Given the description of an element on the screen output the (x, y) to click on. 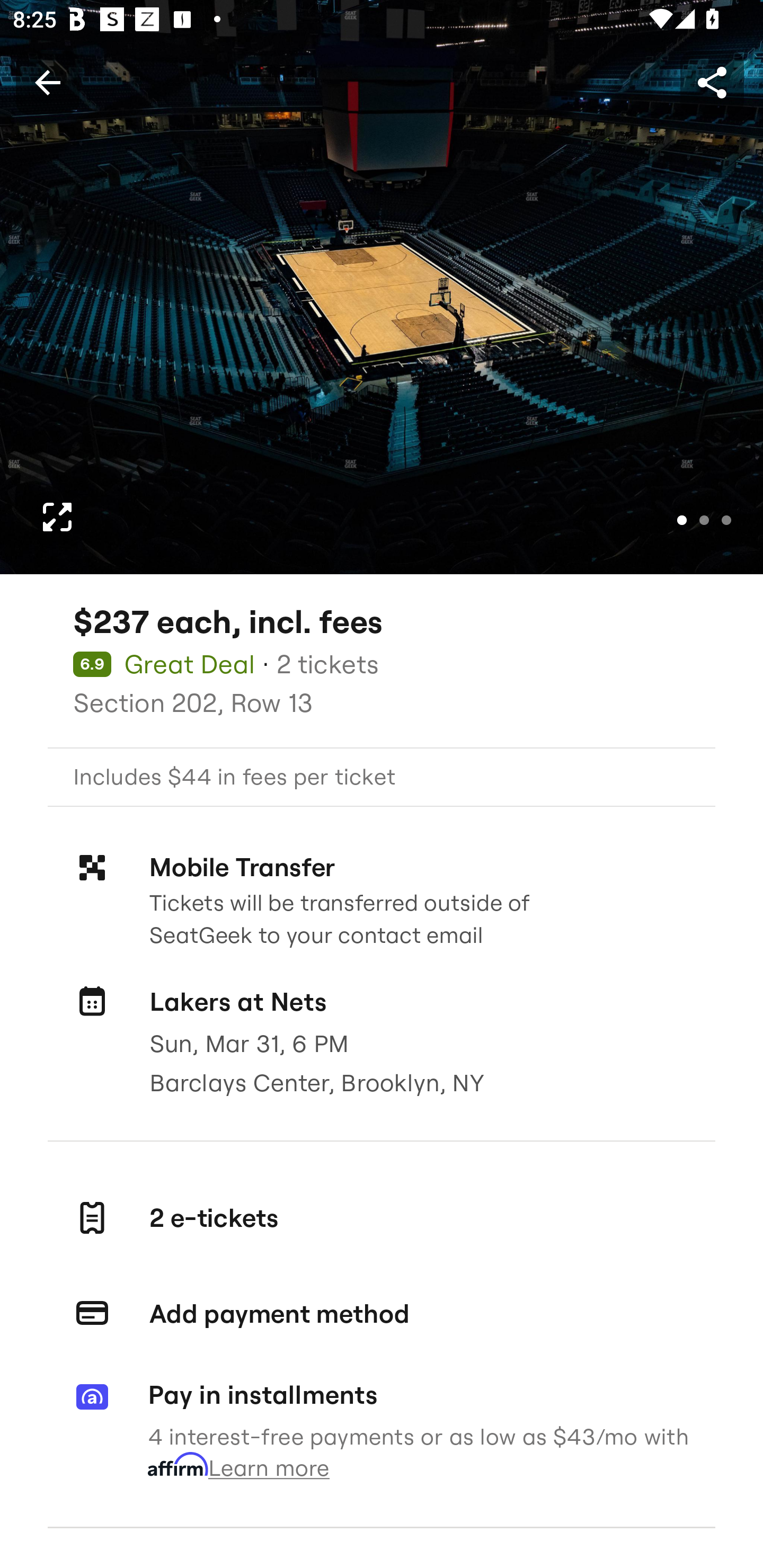
Back (47, 81)
Share (711, 81)
Expand image to fullscreen (57, 517)
2 e-tickets (381, 1217)
Add payment method (381, 1313)
